Given the description of an element on the screen output the (x, y) to click on. 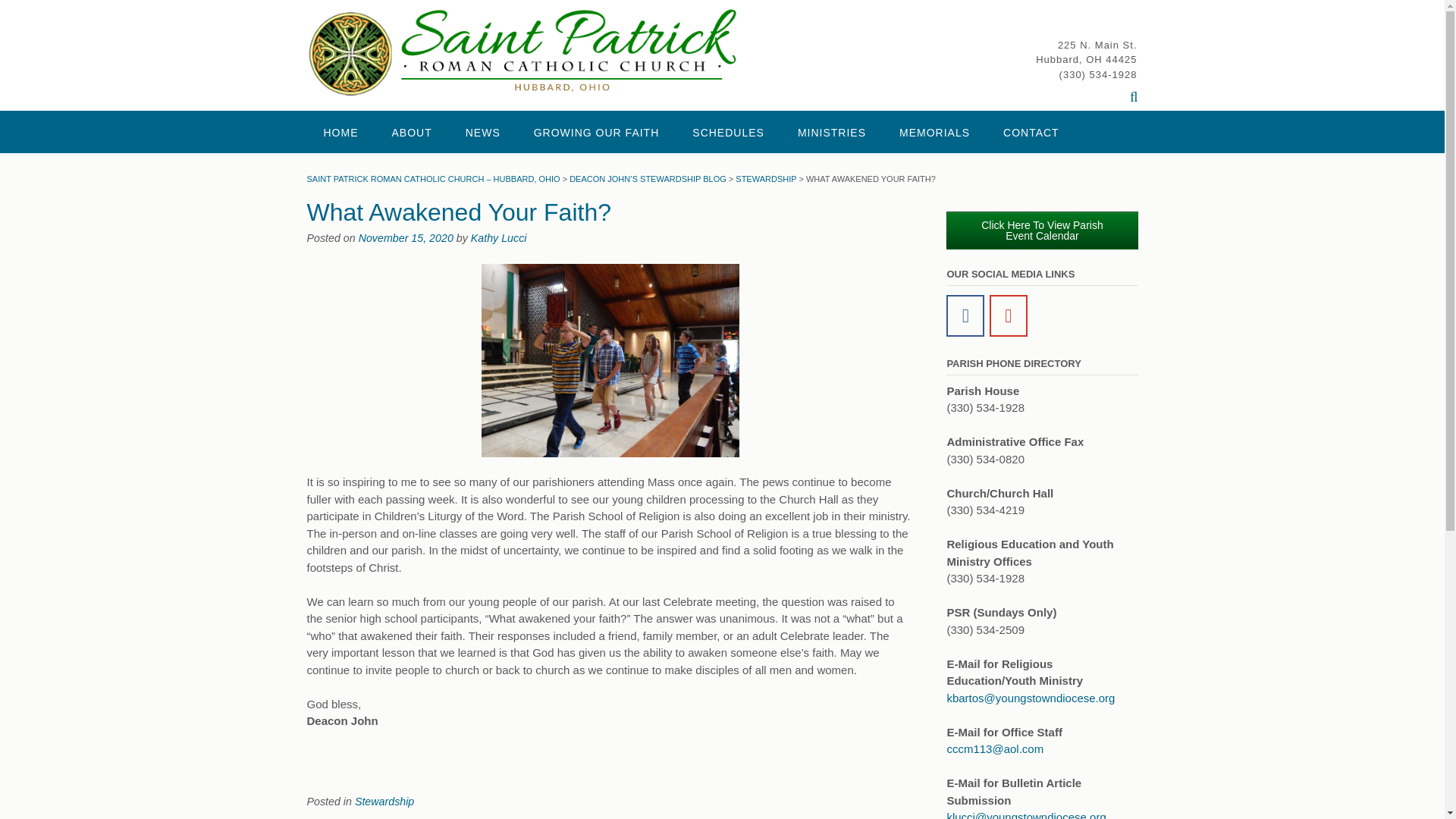
Go to the Stewardship Category archives. (765, 178)
NEWS (482, 131)
HOME (339, 131)
ABOUT (411, 131)
GROWING OUR FAITH (596, 131)
